Given the description of an element on the screen output the (x, y) to click on. 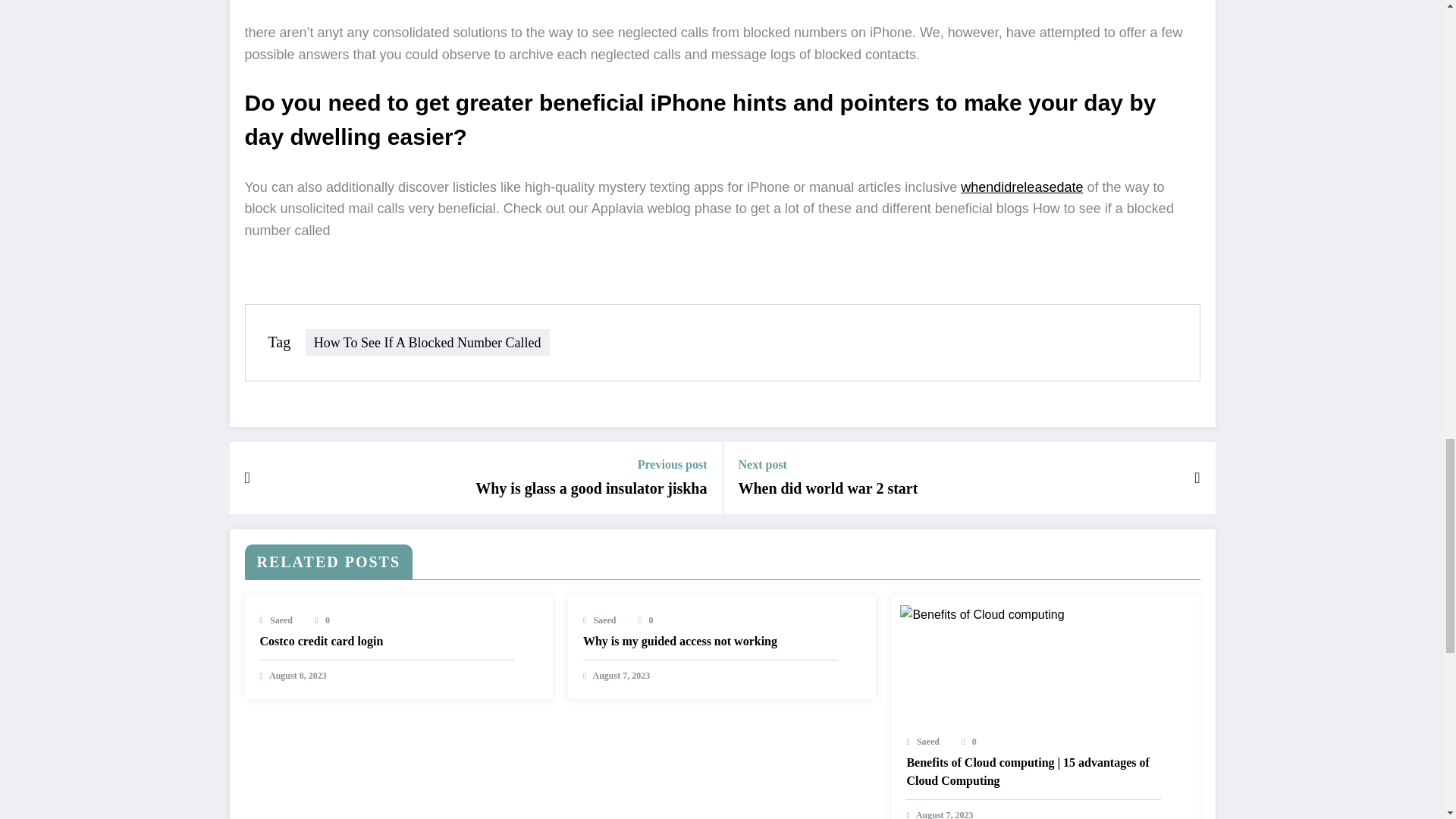
Next post (828, 464)
Previous post (591, 464)
whendidreleasedate (1021, 186)
How To See If A Blocked Number Called (427, 342)
Why is glass a good insulator jiskha (591, 487)
Saeed (280, 620)
When did world war 2 start (828, 487)
